Given the description of an element on the screen output the (x, y) to click on. 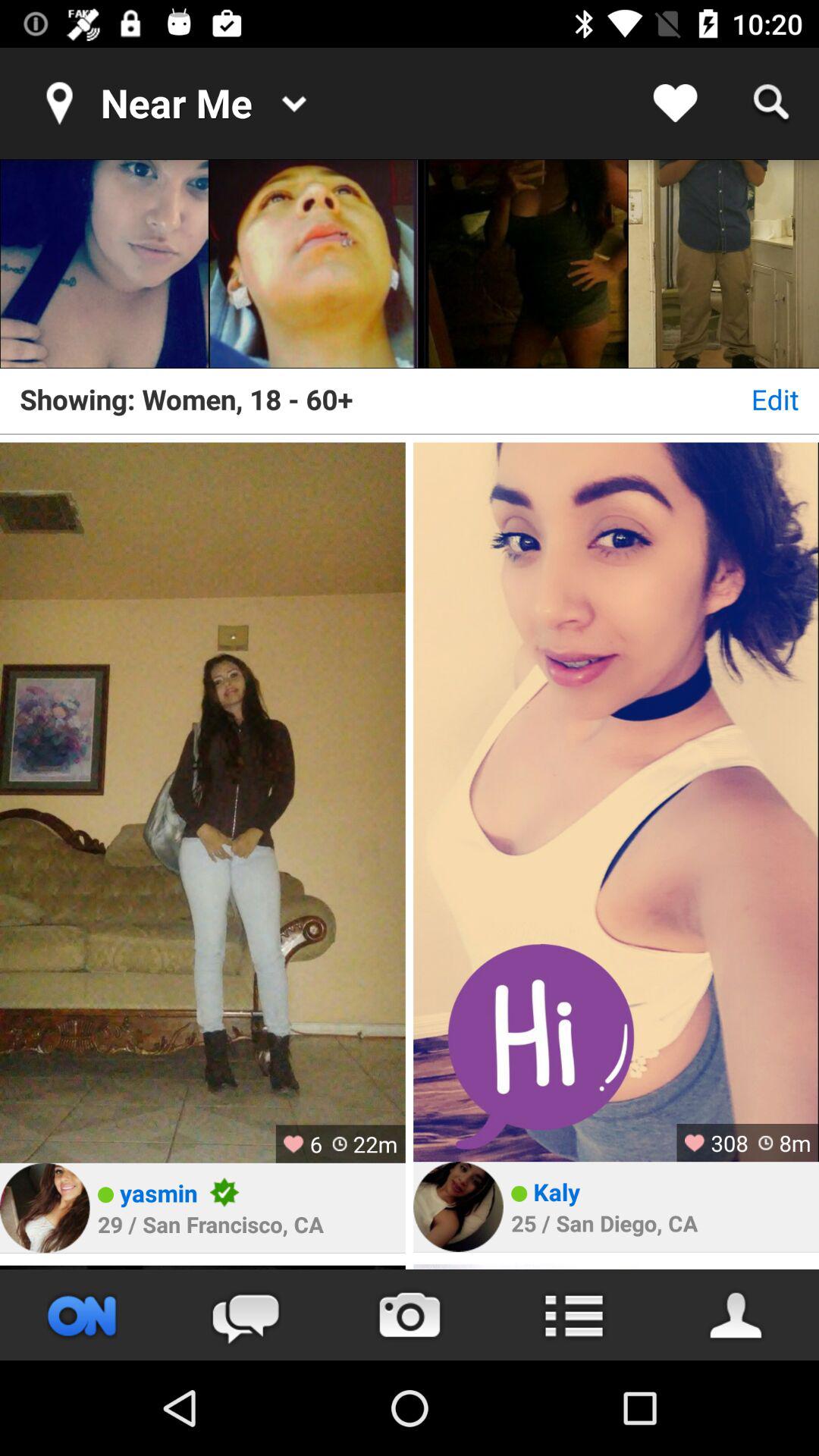
open the kaly item (556, 1191)
